Given the description of an element on the screen output the (x, y) to click on. 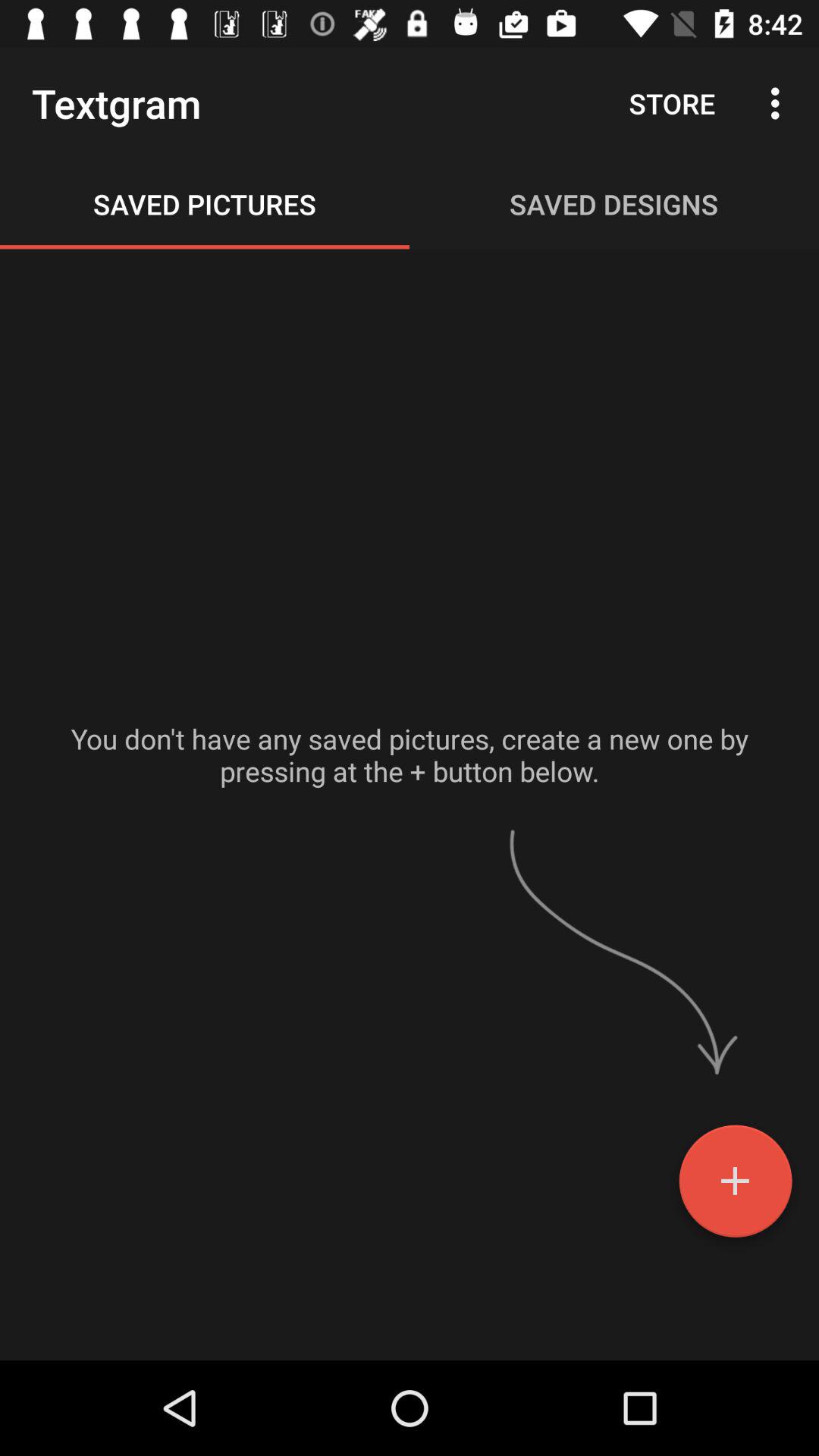
add new picture (735, 1186)
